Given the description of an element on the screen output the (x, y) to click on. 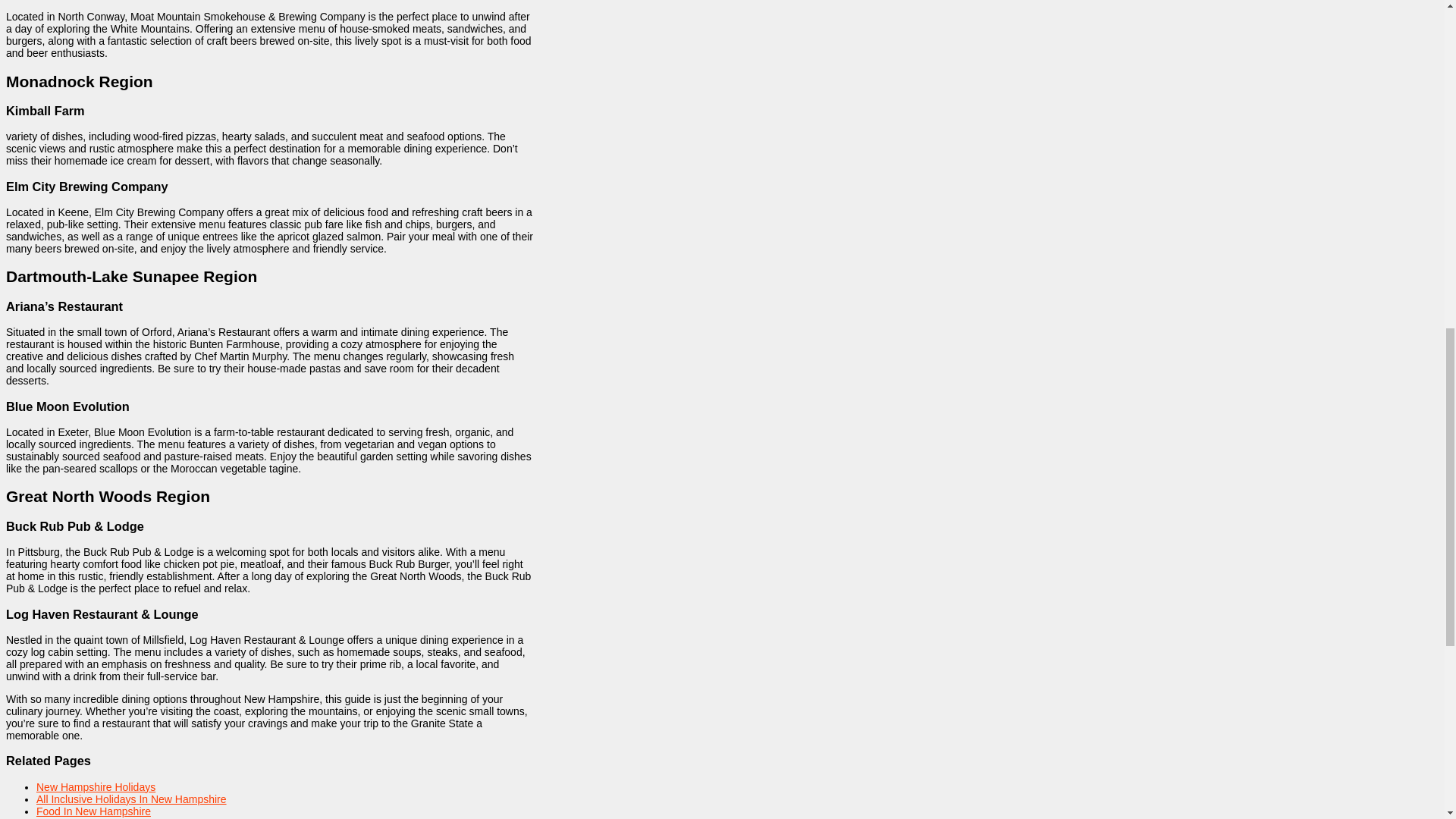
New Hampshire Holidays (95, 787)
All Inclusive Holidays In New Hampshire (131, 799)
Food In New Hampshire (93, 811)
Hotels In New Hampshire (96, 818)
